Given the description of an element on the screen output the (x, y) to click on. 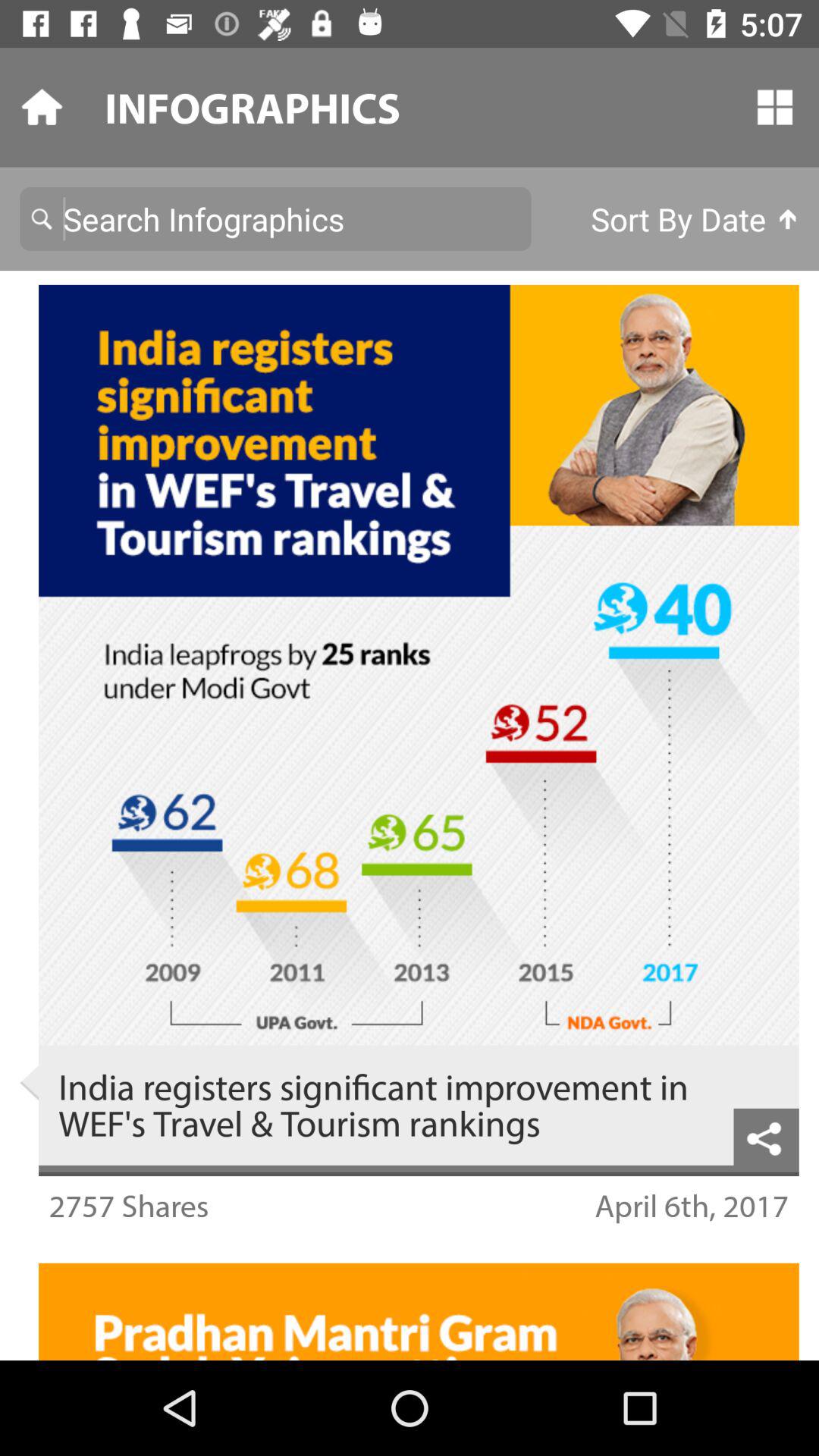
click the 2757 shares icon (128, 1205)
